Given the description of an element on the screen output the (x, y) to click on. 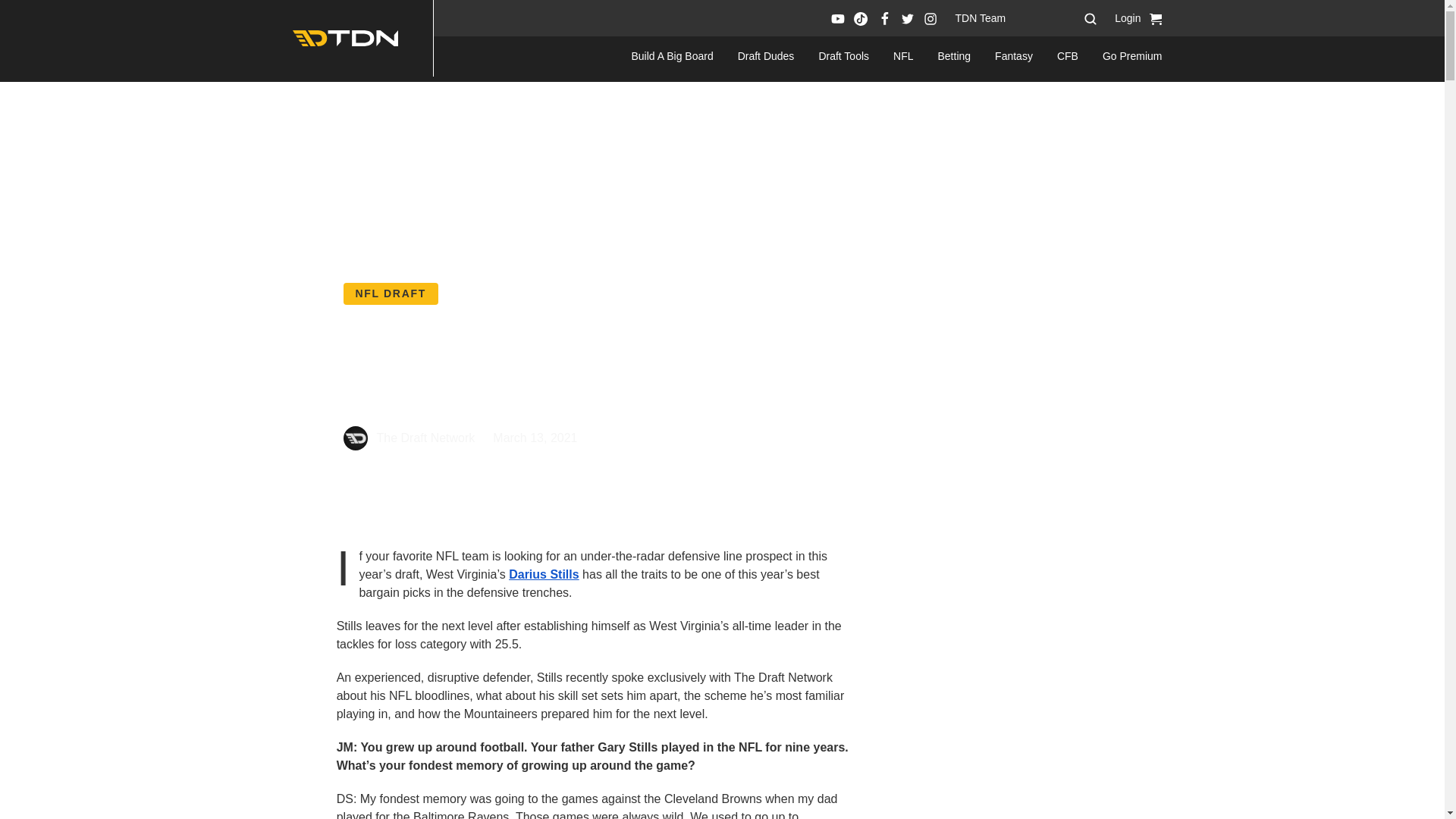
twitter (907, 17)
Betting (954, 55)
instagram (930, 17)
youtube (837, 17)
Go Premium (1131, 55)
CFB (1067, 55)
TDN Team (980, 18)
Build A Big Board (671, 55)
tiktok (860, 17)
Draft Dudes (766, 55)
facebook (884, 17)
NFL (902, 56)
Draft Tools (843, 56)
Fantasy (1013, 55)
Login (1127, 18)
